Given the description of an element on the screen output the (x, y) to click on. 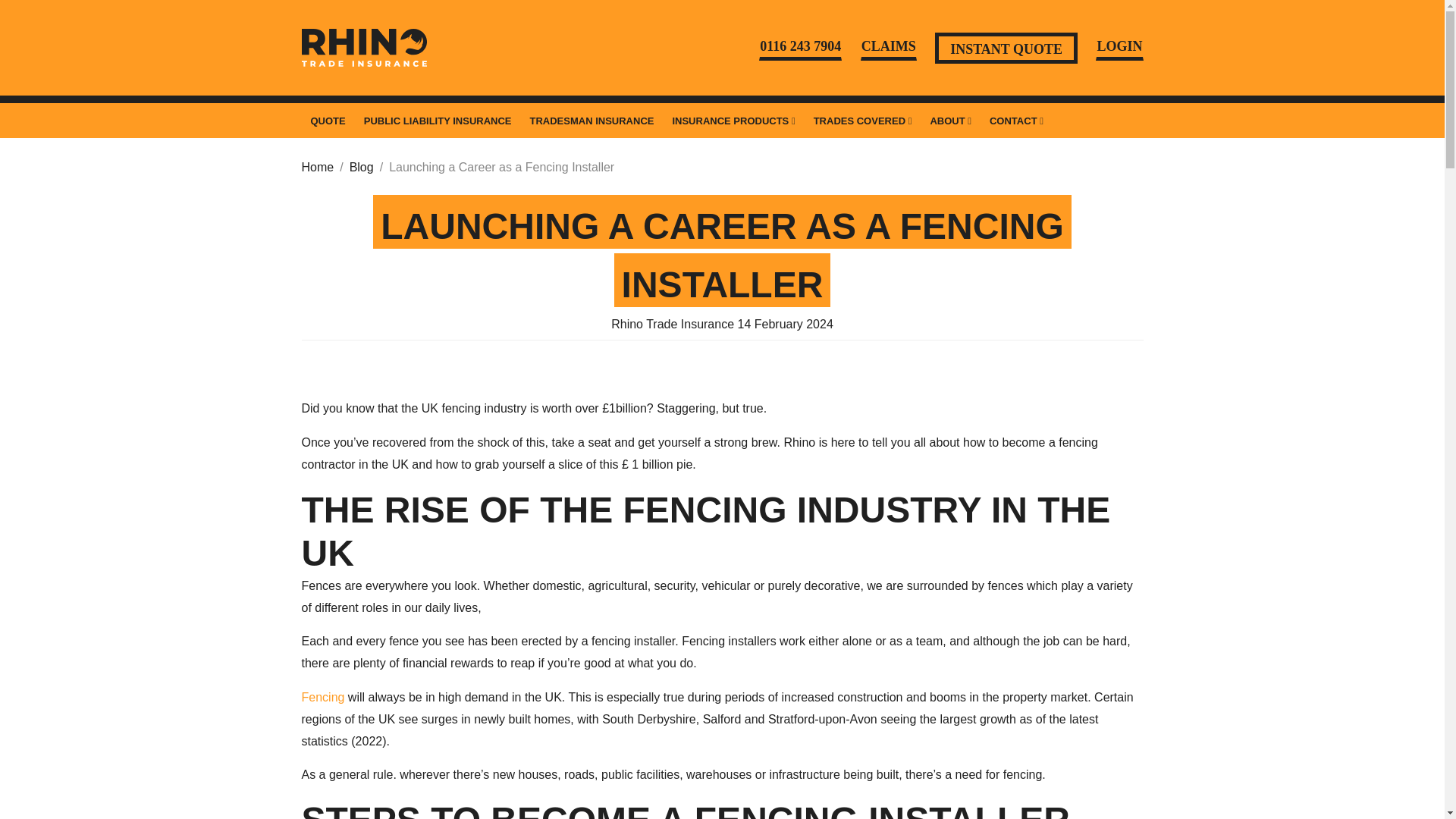
QUOTE (328, 120)
CLAIMS (888, 47)
INSTANT QUOTE (1005, 47)
LOGIN (1119, 47)
ABOUT (949, 120)
Blog (361, 168)
0116 243 7904 (799, 47)
TRADES COVERED (863, 120)
INSURANCE PRODUCTS (732, 120)
Home (317, 168)
